Given the description of an element on the screen output the (x, y) to click on. 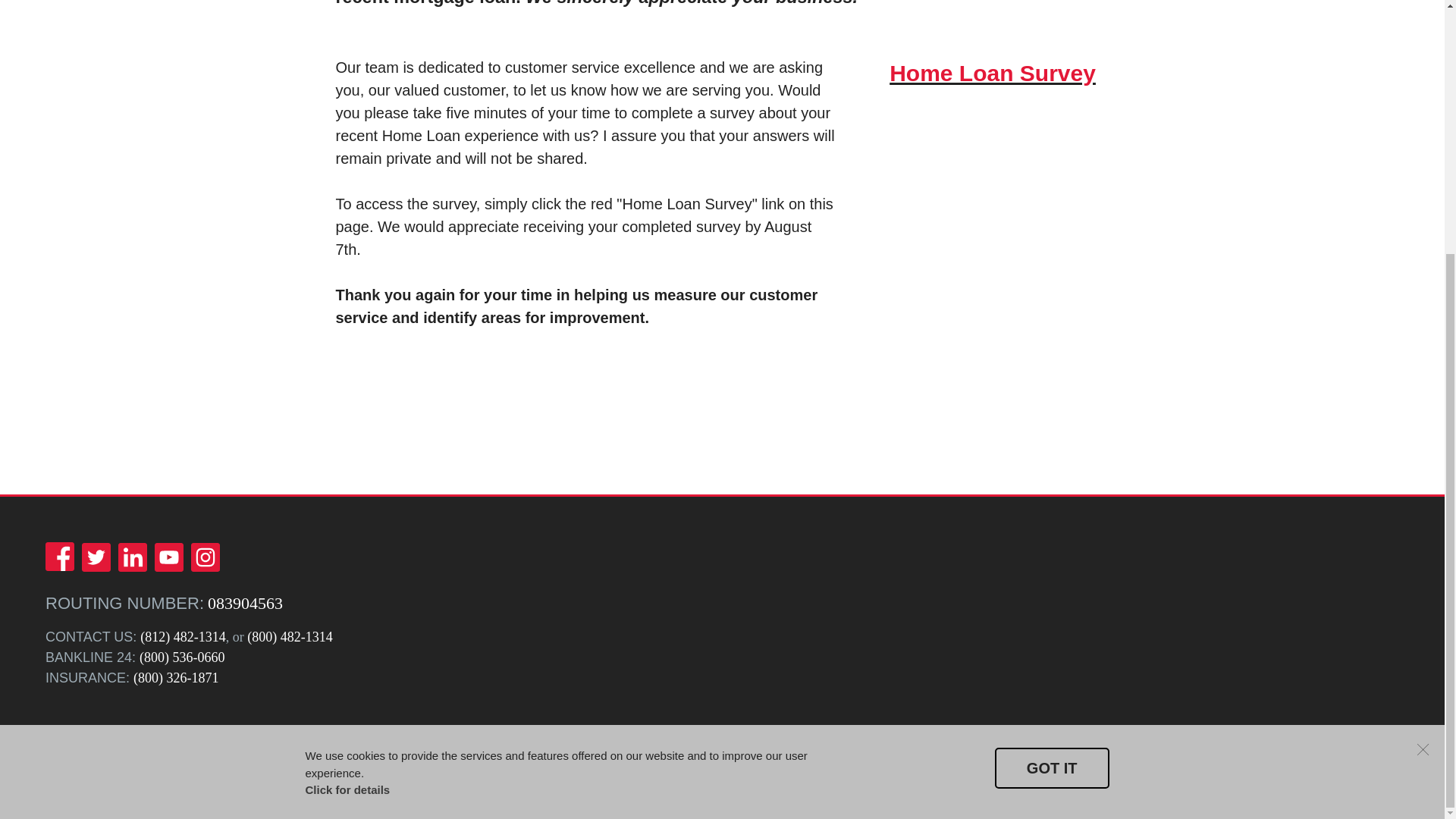
Home Loan Survey (992, 72)
Home Loan Survey (992, 72)
Fraud Awareness (122, 760)
Accessibility Statement (298, 760)
Privacy Policy (204, 760)
Home (59, 760)
Click for details (347, 430)
Contact Us (478, 760)
Sitemap (380, 760)
GOT IT (1051, 408)
Careers (427, 760)
